Given the description of an element on the screen output the (x, y) to click on. 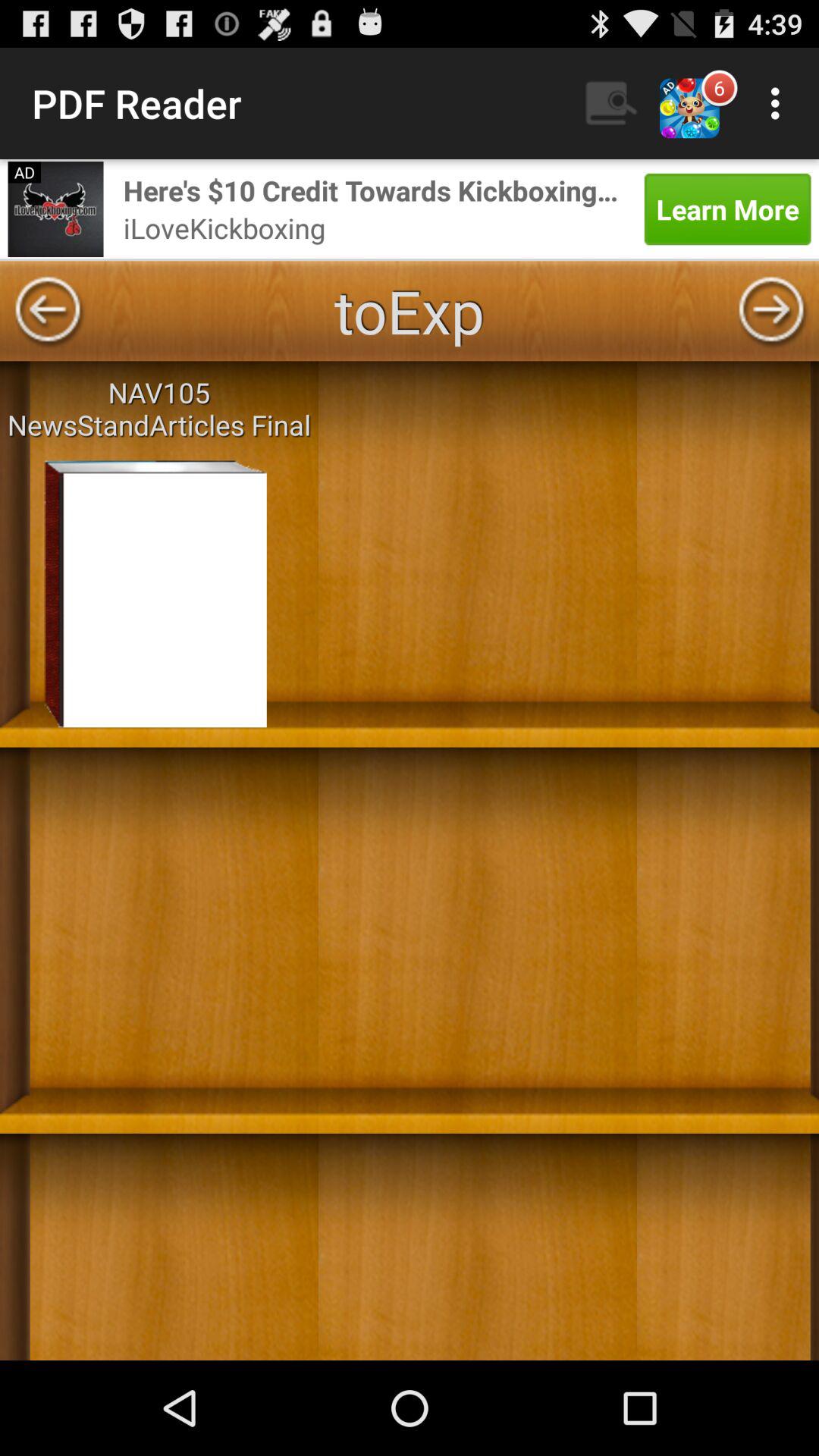
next button (771, 310)
